Given the description of an element on the screen output the (x, y) to click on. 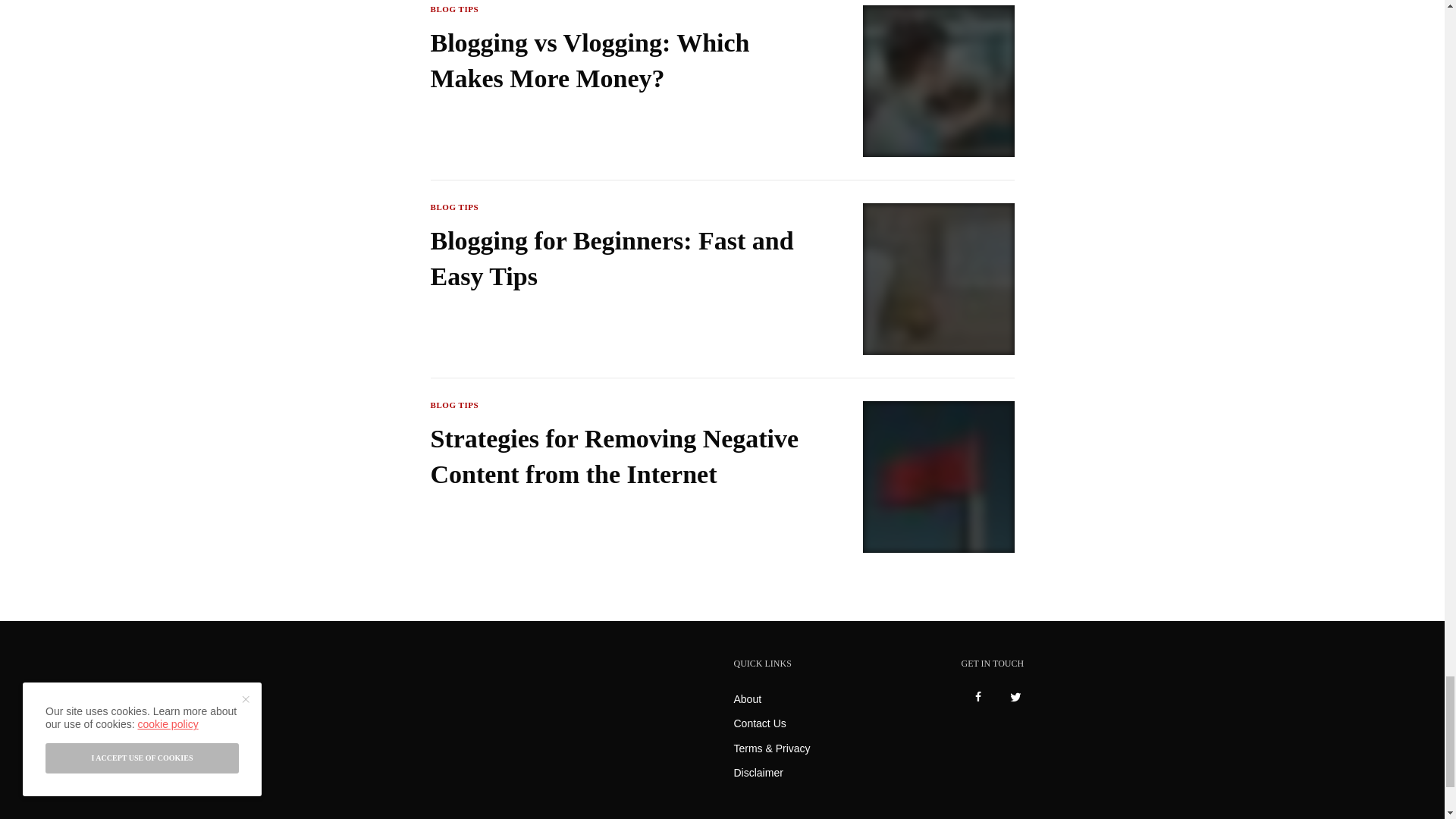
Blogging for Beginners: Fast and Easy Tips (617, 258)
Strategies for Removing Negative Content from the Internet (617, 456)
Blogging vs Vlogging: Which Makes More Money? (617, 61)
